Given the description of an element on the screen output the (x, y) to click on. 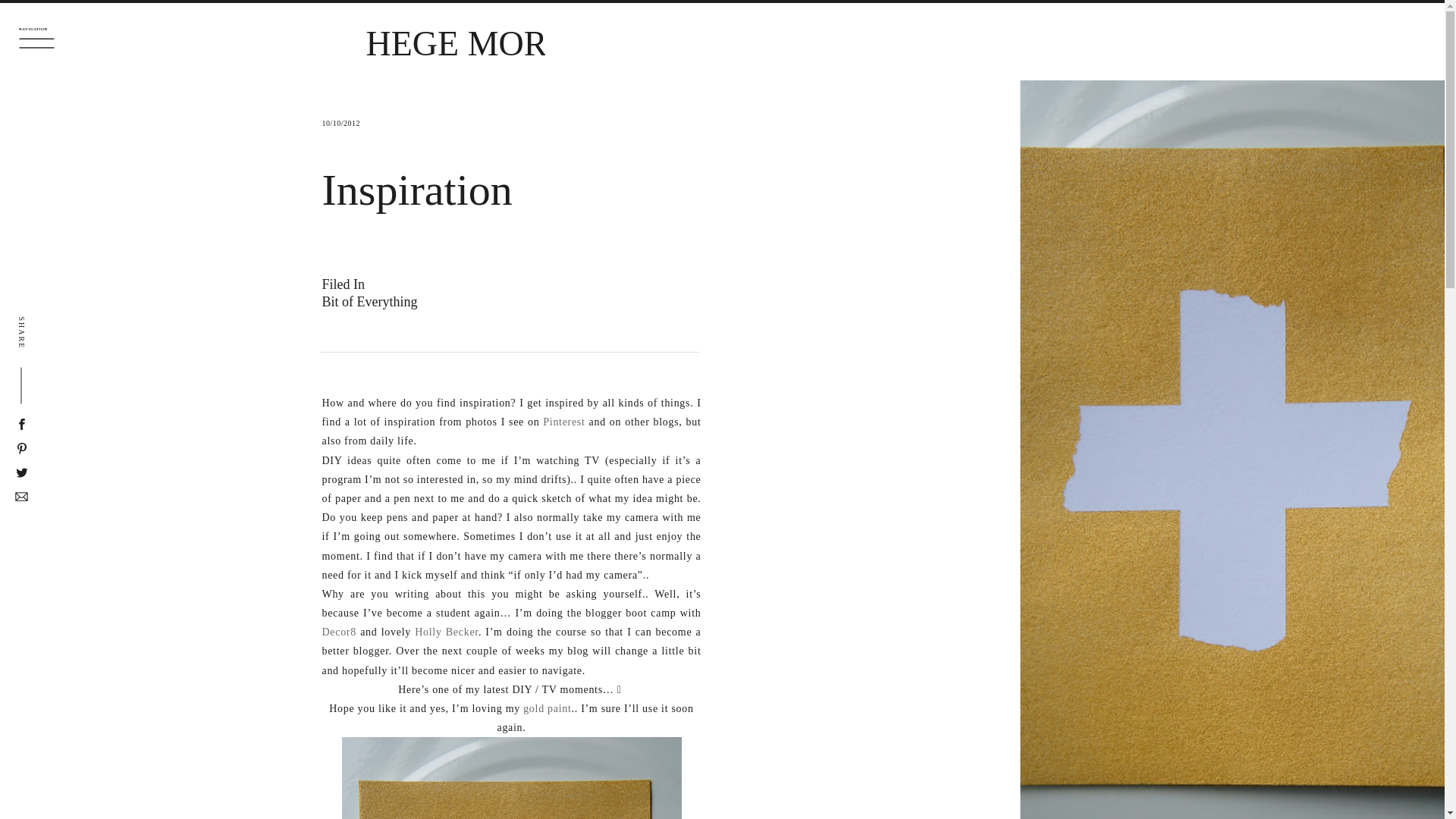
HEGE MORRIS (454, 42)
Holly Becker (446, 632)
Bit of Everything (368, 301)
Decor8 (338, 632)
gold paint (546, 708)
Pinterest (564, 421)
